Given the description of an element on the screen output the (x, y) to click on. 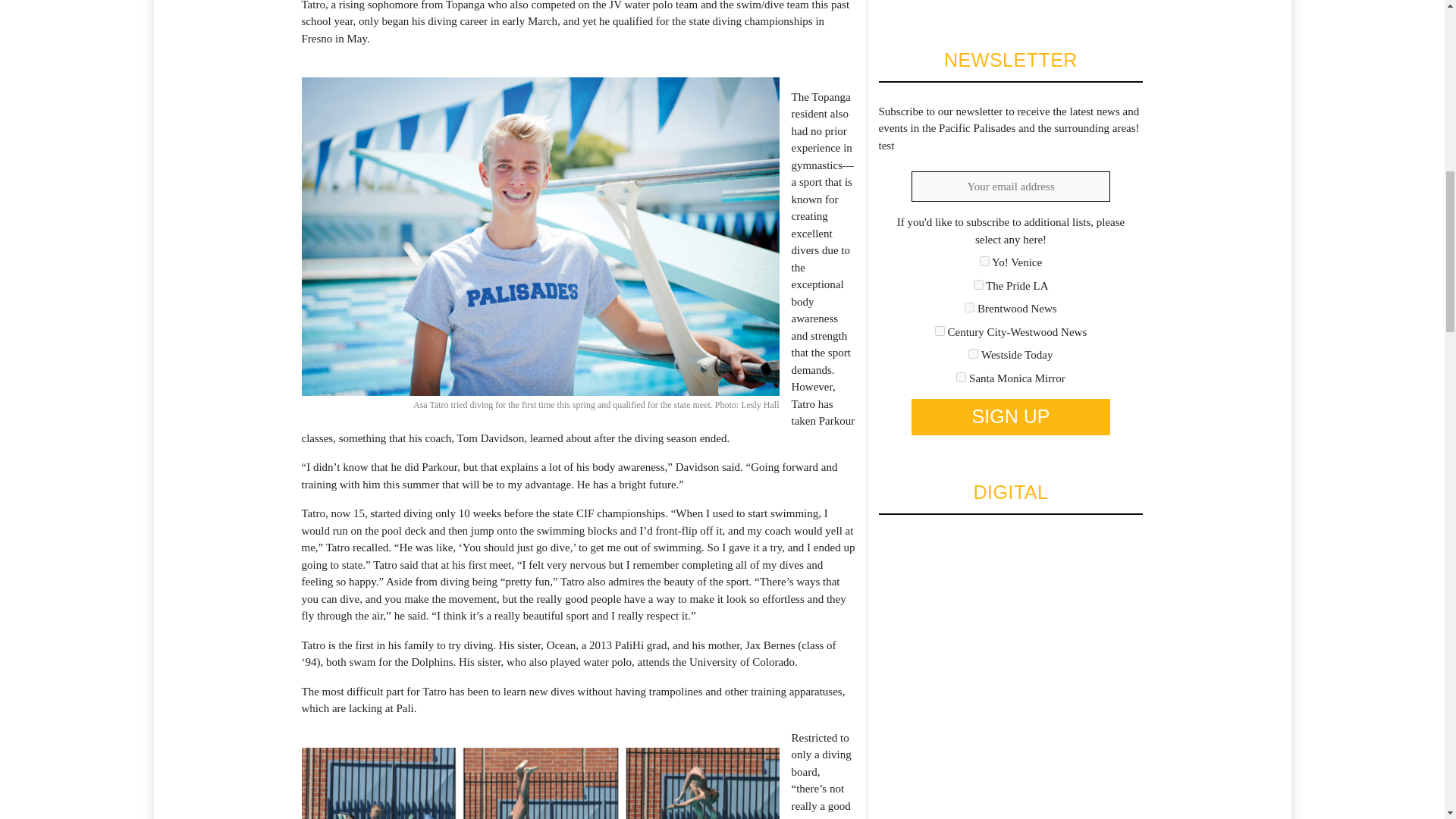
5fac618226 (939, 330)
33f79e7e4d (979, 284)
d0b5733862 (961, 377)
Sign up (1010, 416)
Sign up (1010, 416)
3rd party ad content (991, 1)
2c616d28b5 (984, 261)
382281a661 (968, 307)
a3d1b6d535 (973, 353)
